Given the description of an element on the screen output the (x, y) to click on. 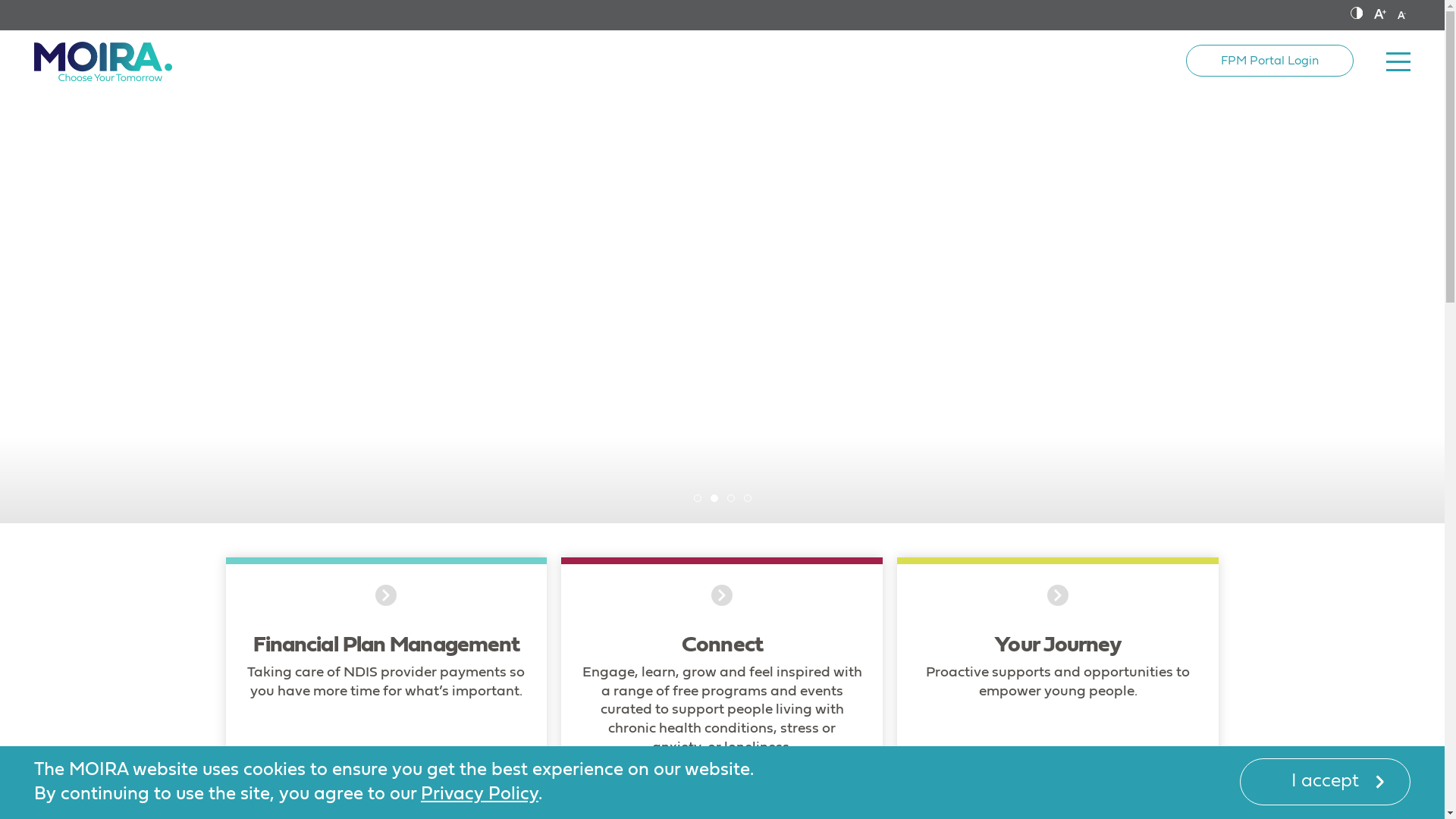
Next Element type: text (1425, 306)
Increase font size icon Element type: text (1379, 15)
4 Element type: text (751, 502)
2 Element type: text (718, 502)
Decrease font size icon Element type: text (1401, 15)
I accept Element type: text (1324, 781)
Join today Element type: text (620, 330)
Privacy Policy Element type: text (479, 793)
FPM Portal Login Element type: text (1269, 60)
Main Menu Element type: text (1398, 61)
3 Element type: text (735, 502)
1 Element type: text (701, 502)
Toggle contrast mode icon Element type: text (1356, 15)
FPM Portal Login Element type: text (1269, 60)
Learn more Element type: text (818, 330)
